Given the description of an element on the screen output the (x, y) to click on. 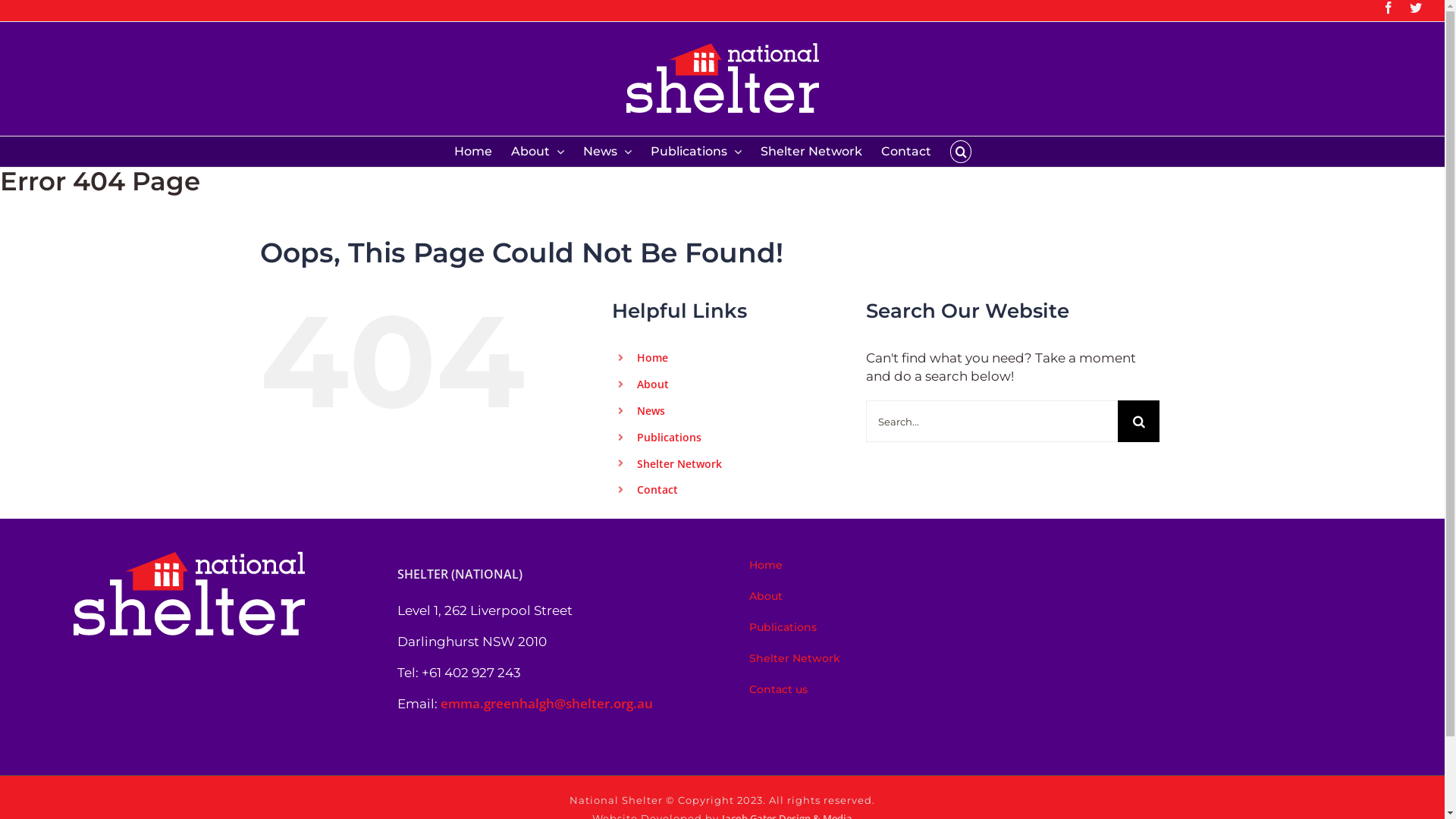
Publications Element type: text (695, 151)
Home Element type: text (652, 357)
News Element type: text (651, 410)
Publications Element type: text (669, 436)
Contact us Element type: text (900, 689)
emma.greenhalgh@shelter.org.au Element type: text (546, 703)
About Element type: text (537, 151)
Shelter Network Element type: text (679, 463)
Home Element type: text (473, 151)
About Element type: text (652, 383)
News Element type: text (607, 151)
Twitter Element type: text (1415, 7)
Publications Element type: text (900, 627)
Home Element type: text (900, 564)
Contact Element type: text (657, 489)
Contact Element type: text (906, 151)
Facebook Element type: text (1388, 7)
Shelter Network Element type: text (811, 151)
Shelter Network Element type: text (900, 658)
Search Element type: hover (960, 151)
About Element type: text (900, 595)
